Given the description of an element on the screen output the (x, y) to click on. 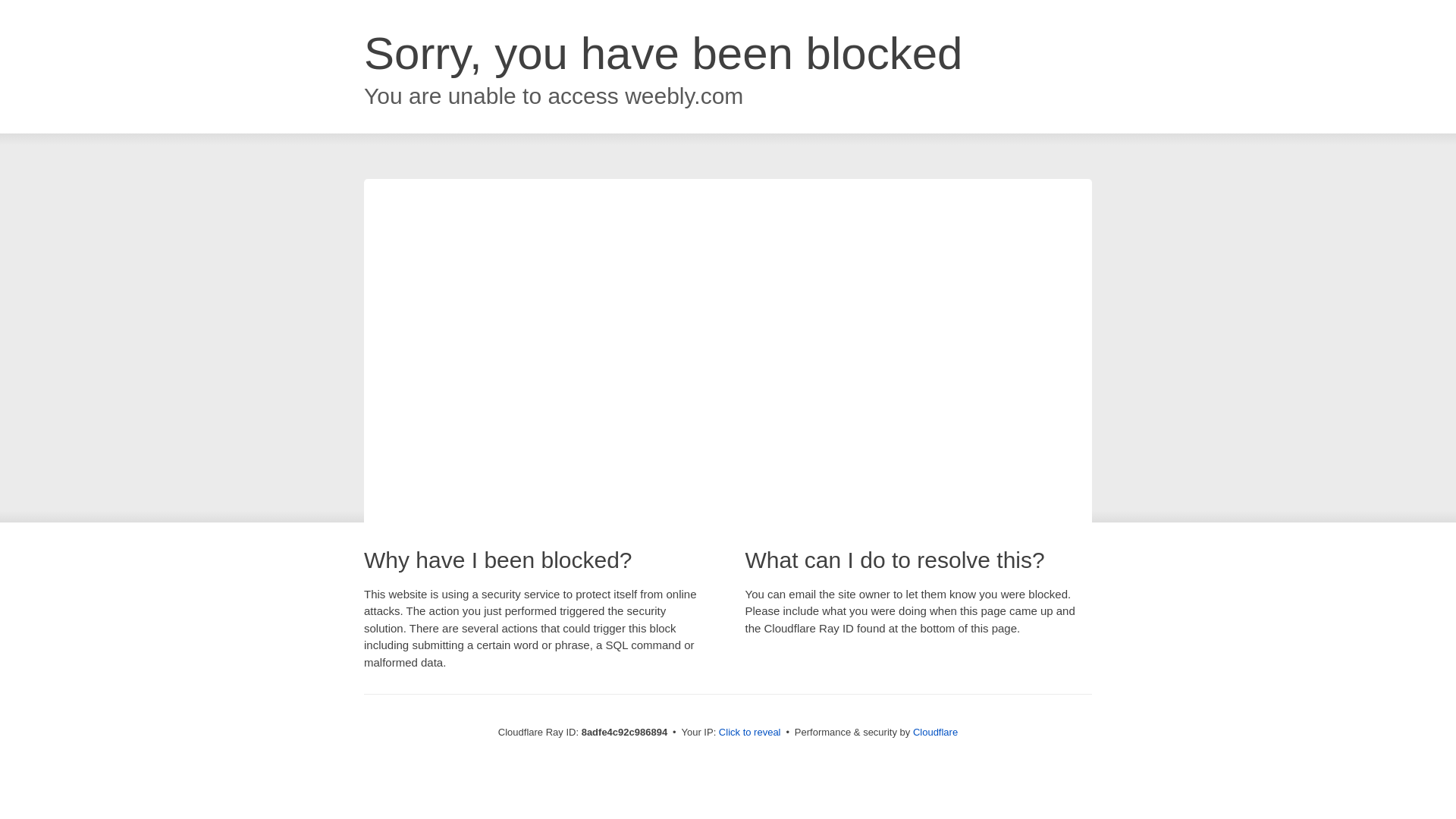
Cloudflare (935, 731)
Click to reveal (749, 732)
